Given the description of an element on the screen output the (x, y) to click on. 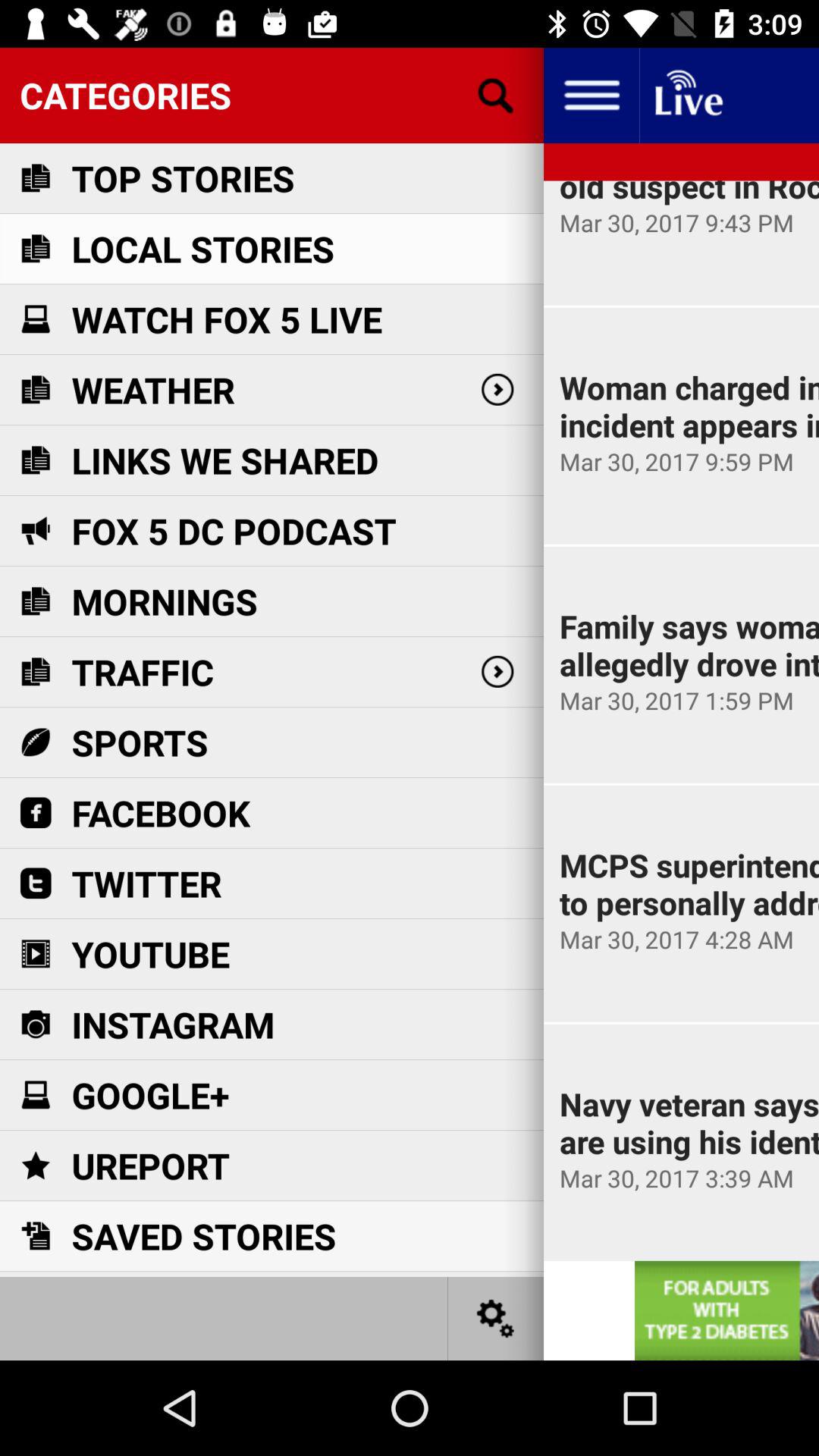
search (495, 95)
